Given the description of an element on the screen output the (x, y) to click on. 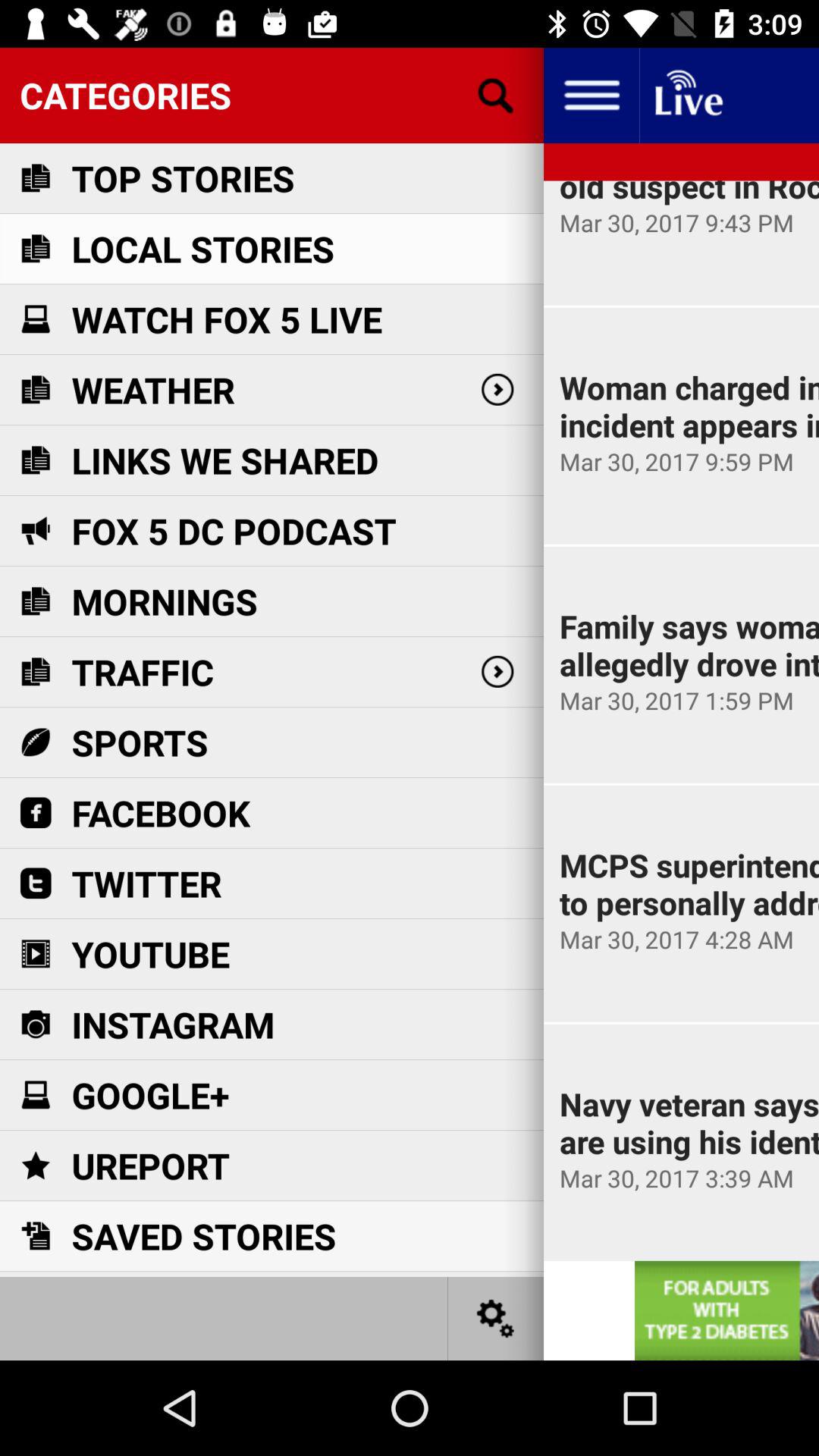
search (495, 95)
